Given the description of an element on the screen output the (x, y) to click on. 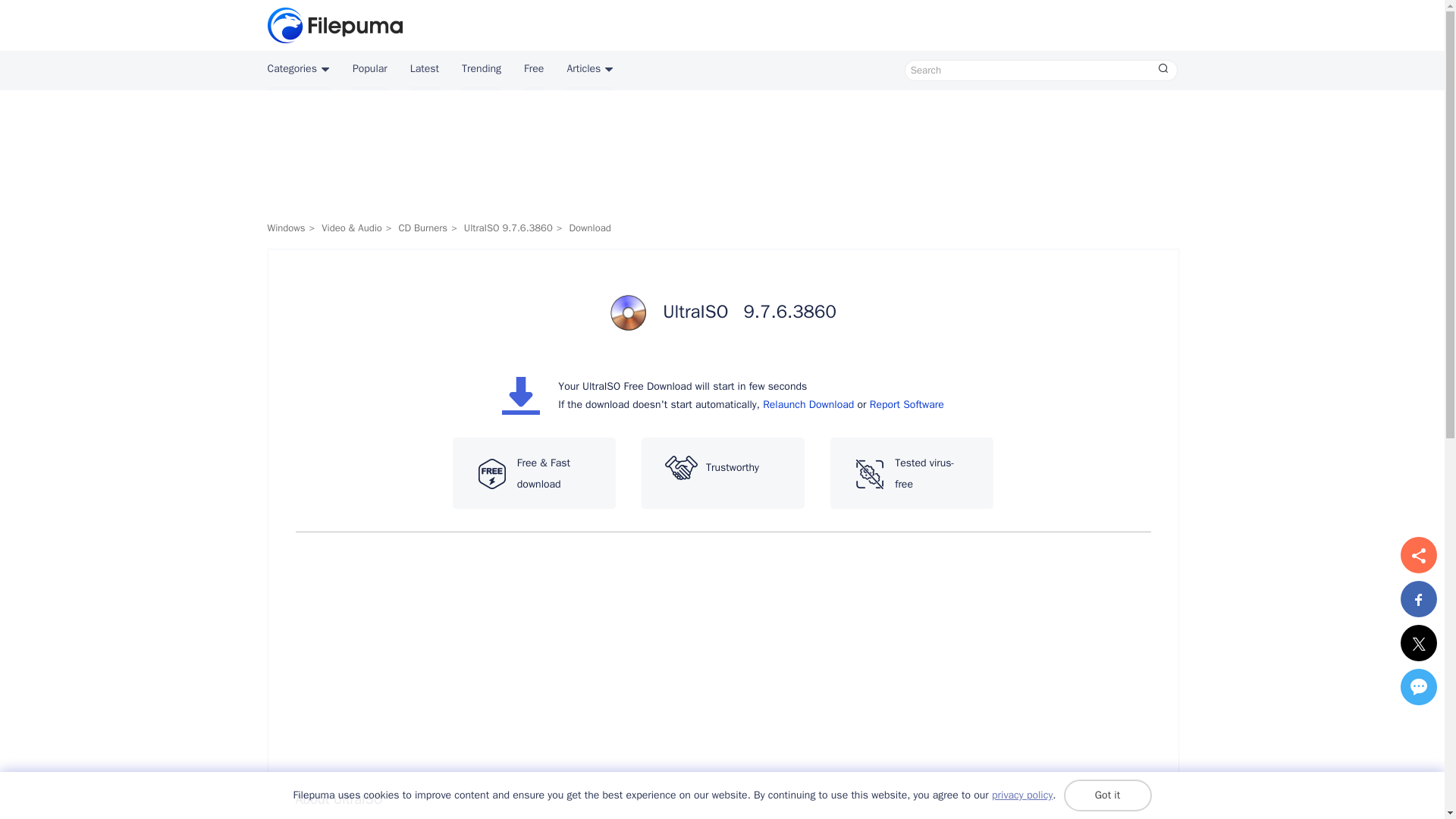
Windows (285, 227)
Trending (480, 70)
CD Burners (421, 227)
Categories (297, 70)
Advertisement (721, 158)
Relaunch Download (807, 404)
Articles (589, 70)
UltraISO 9.7.6.3860 (508, 227)
